Given the description of an element on the screen output the (x, y) to click on. 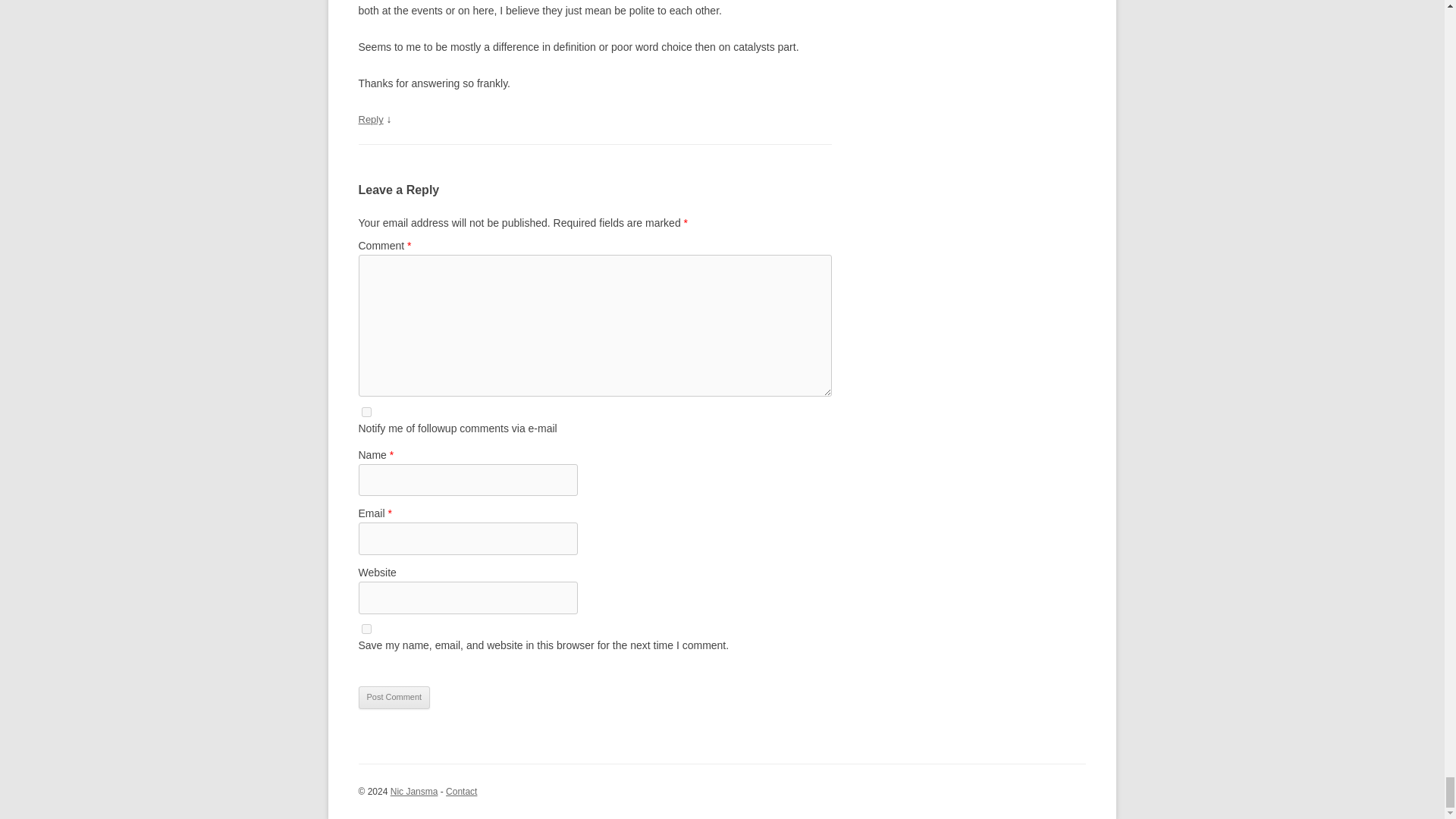
yes (366, 628)
subscribe (366, 411)
Post Comment (393, 697)
